Given the description of an element on the screen output the (x, y) to click on. 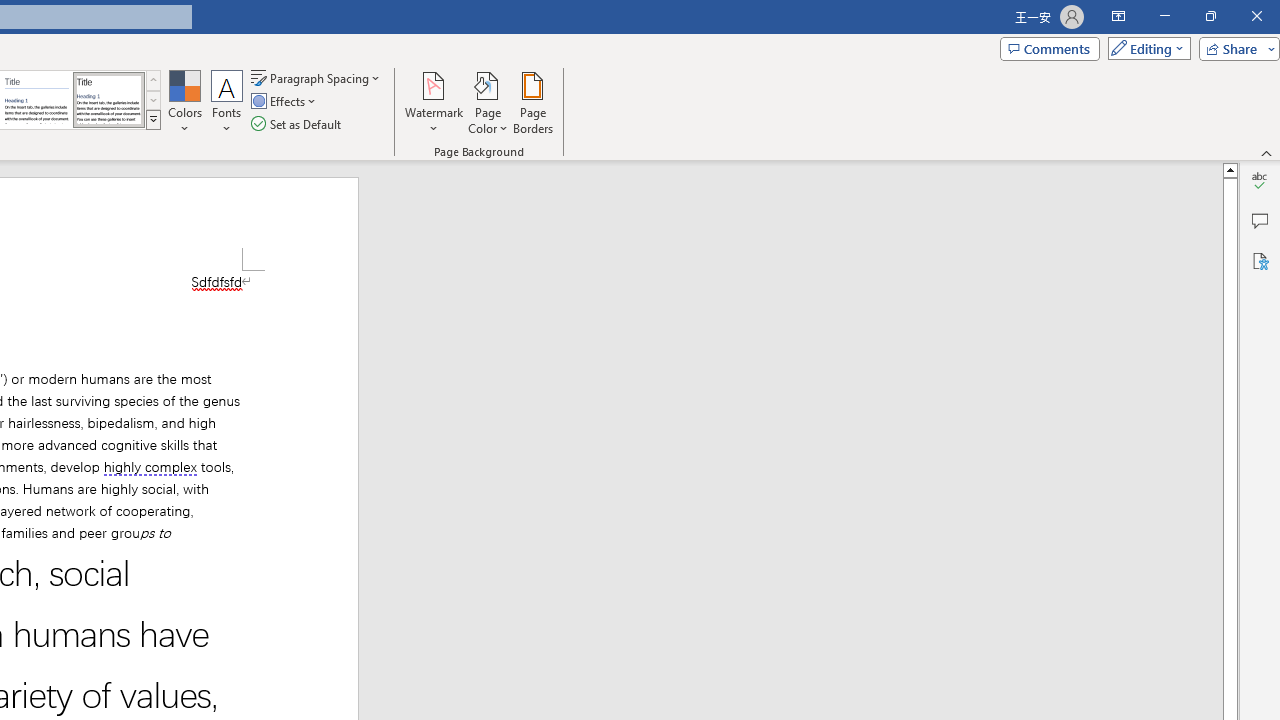
Style Set (153, 120)
Fonts (227, 102)
Comments (1260, 220)
Share (1235, 48)
Watermark (434, 102)
Colors (184, 102)
Restore Down (1210, 16)
Page Color (487, 102)
Accessibility (1260, 260)
Collapse the Ribbon (1267, 152)
Ribbon Display Options (1118, 16)
Row Down (153, 100)
Page Borders... (532, 102)
Word 2013 (108, 100)
